Given the description of an element on the screen output the (x, y) to click on. 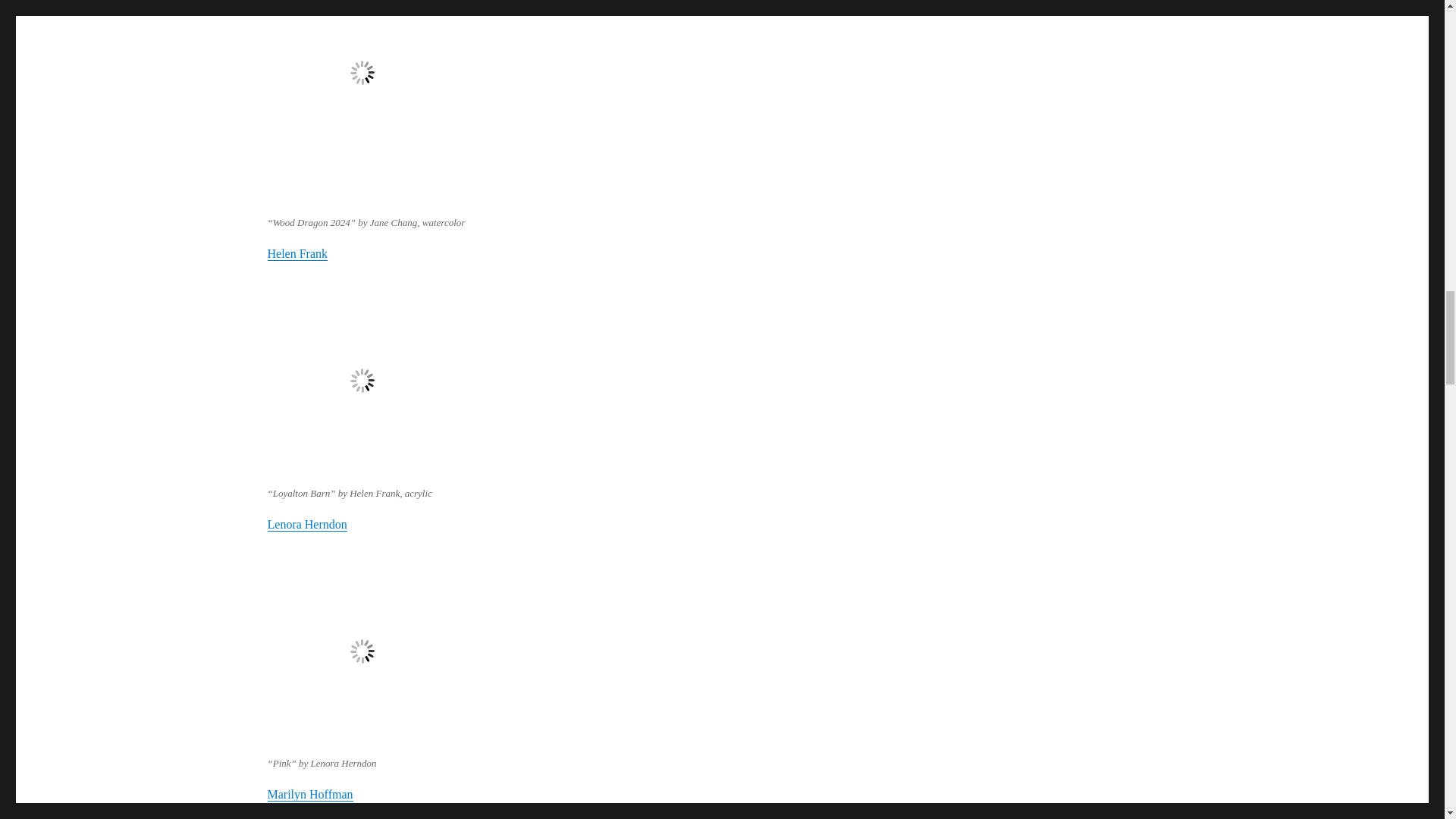
Marilyn Hoffman (309, 793)
Lenora Herndon (306, 523)
Helen Frank (296, 253)
